Given the description of an element on the screen output the (x, y) to click on. 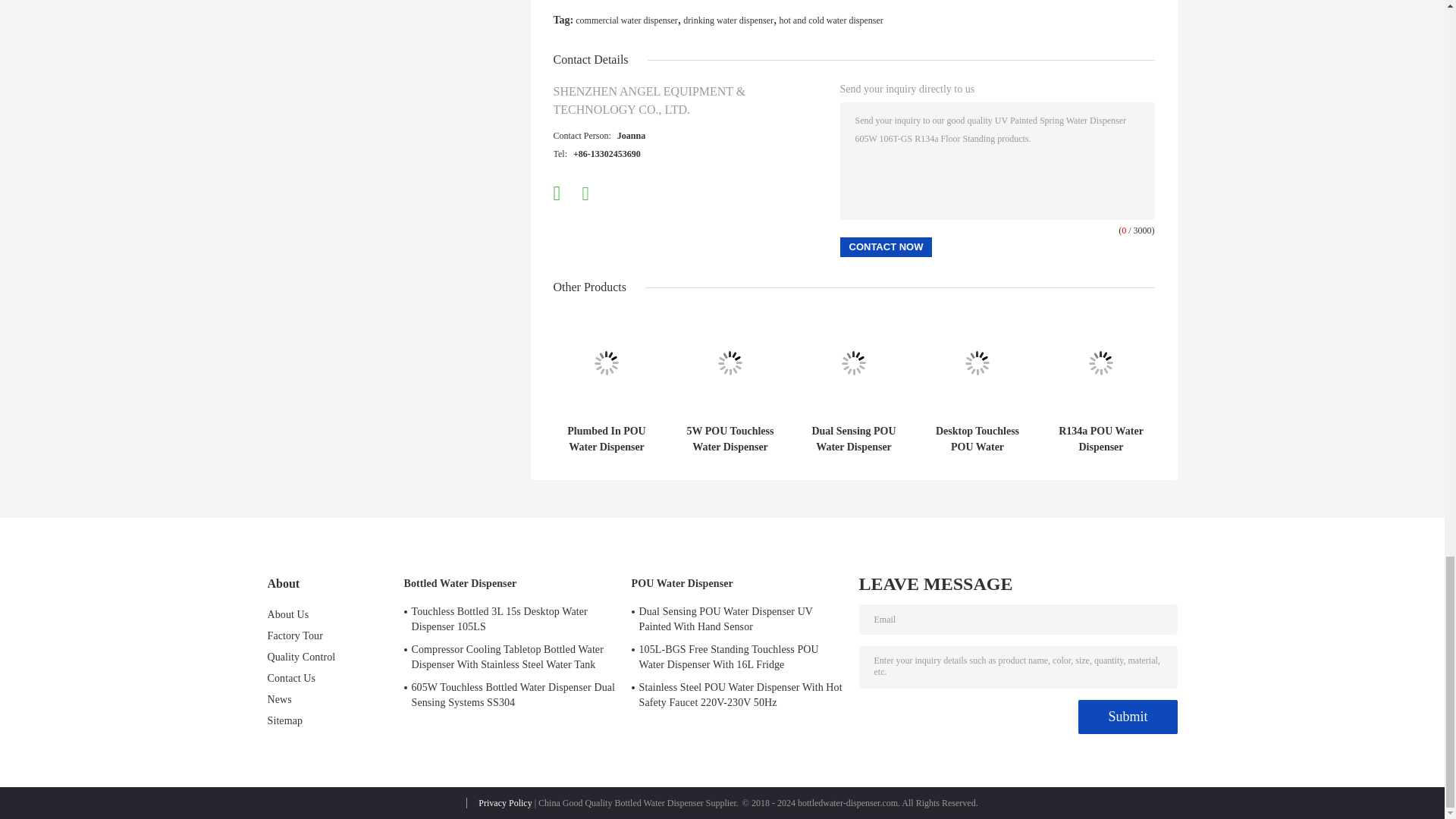
Submit (1127, 716)
Contact Now (886, 247)
